Given the description of an element on the screen output the (x, y) to click on. 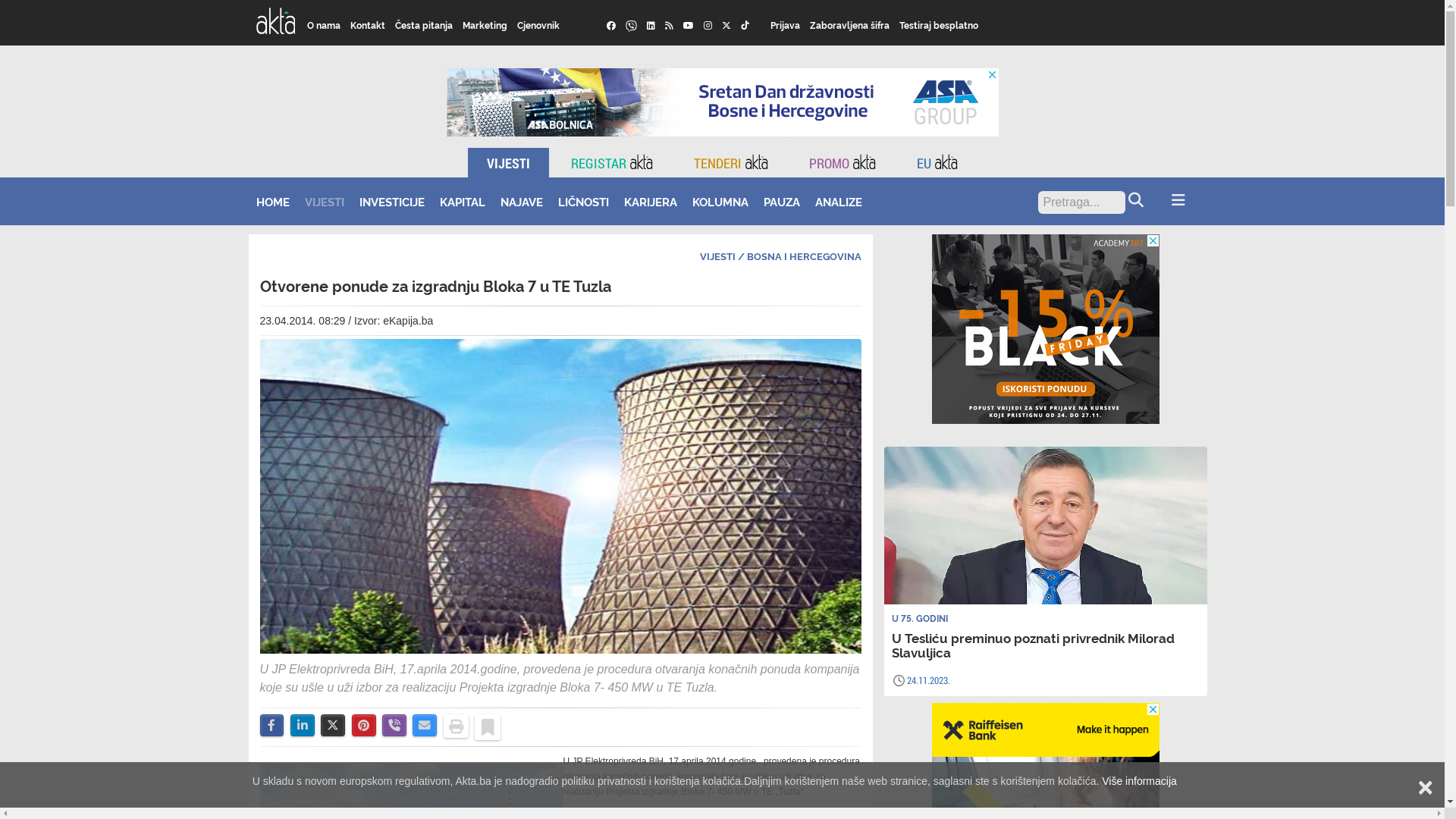
3rd party ad content Element type: hover (721, 102)
REGISTAR Element type: text (611, 162)
Cjenovnik Element type: text (538, 24)
NAJAVE Element type: text (521, 201)
INVESTICIJE Element type: text (391, 201)
Prijava Element type: text (785, 24)
KARIJERA Element type: text (649, 201)
3rd party ad content Element type: hover (1045, 328)
PAUZA Element type: text (780, 201)
EU Element type: text (936, 162)
VIJESTI Element type: text (508, 162)
HOME Element type: text (272, 201)
ANALIZE Element type: text (837, 201)
Marketing Element type: text (485, 24)
KAPITAL Element type: text (462, 201)
O nama Element type: text (323, 24)
BOSNA I HERCEGOVINA Element type: text (803, 255)
VIJESTI Element type: text (324, 201)
PROMO Element type: text (842, 162)
TENDERI Element type: text (730, 162)
Testiraj besplatno Element type: text (938, 24)
24.11.2023. Element type: text (928, 680)
Kontakt Element type: text (367, 24)
VIJESTI Element type: text (717, 255)
KOLUMNA Element type: text (719, 201)
